Given the description of an element on the screen output the (x, y) to click on. 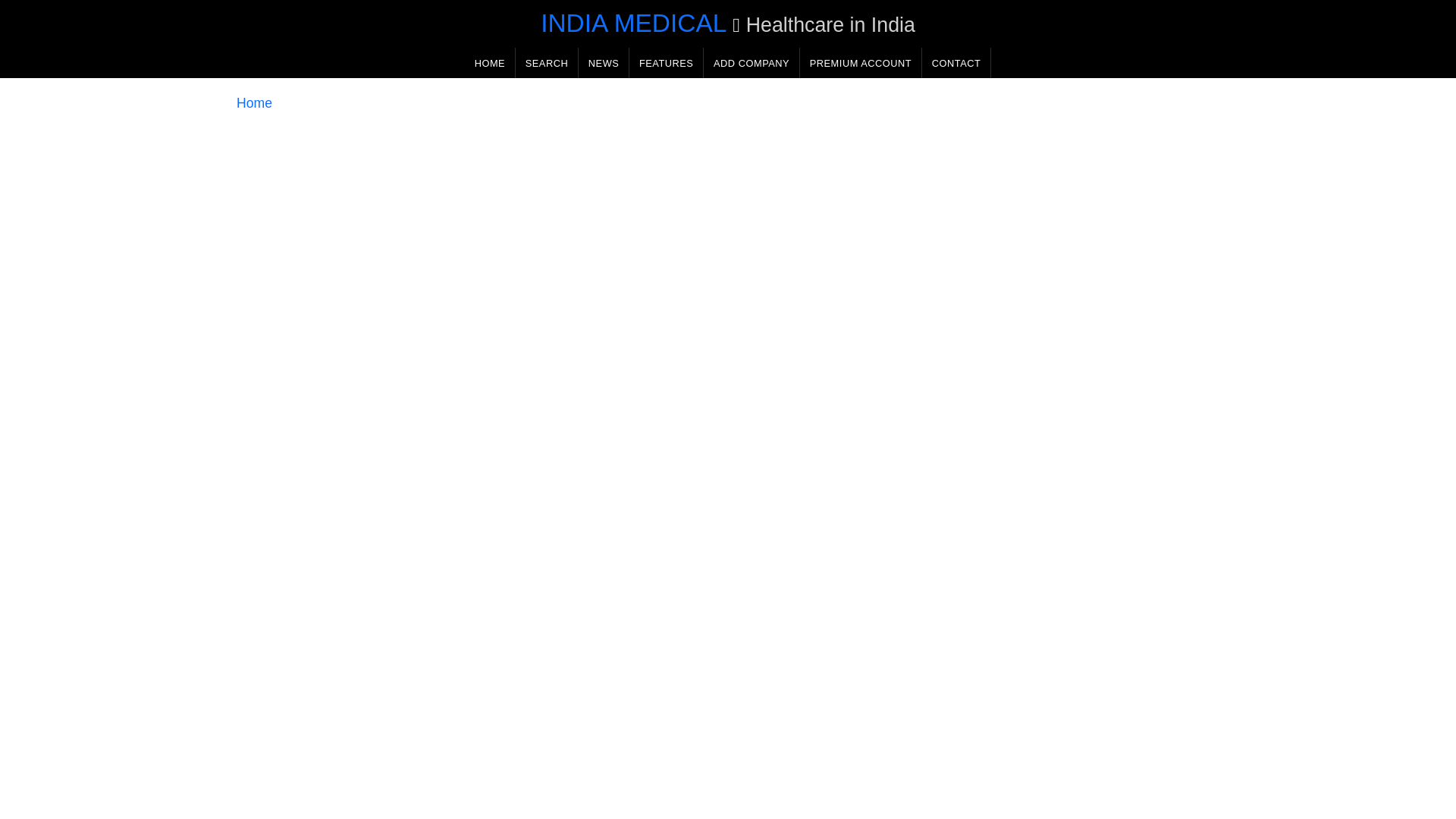
ADD COMPANY (751, 62)
Home (253, 102)
Search in this webseite. (546, 62)
HOME (489, 62)
Premium account (860, 62)
FEATURES (665, 62)
NEWS (603, 62)
Add a new company (751, 62)
PREMIUM ACCOUNT (860, 62)
CONTACT (955, 62)
